Given the description of an element on the screen output the (x, y) to click on. 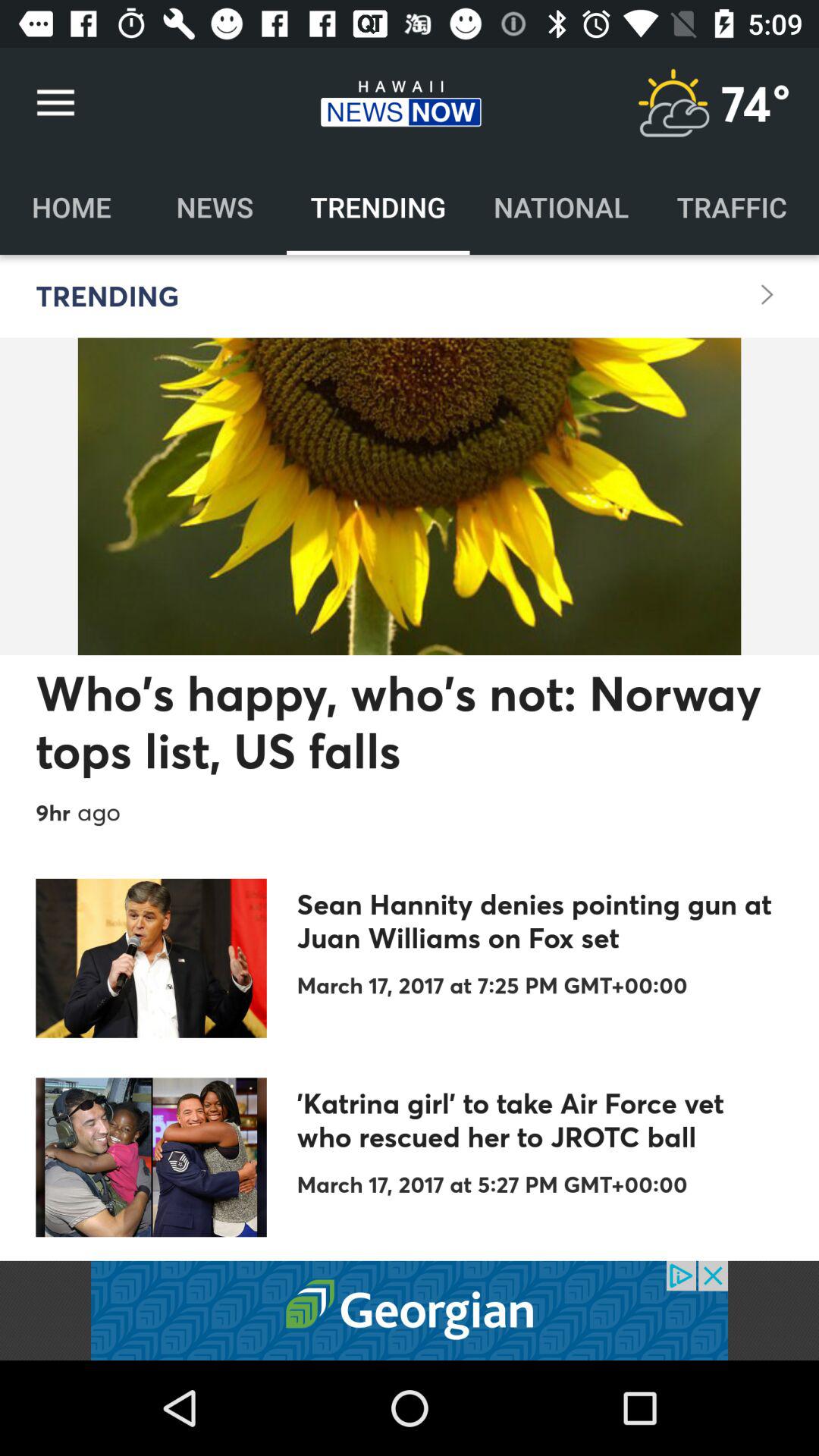
go to advertisement link (409, 1310)
